Given the description of an element on the screen output the (x, y) to click on. 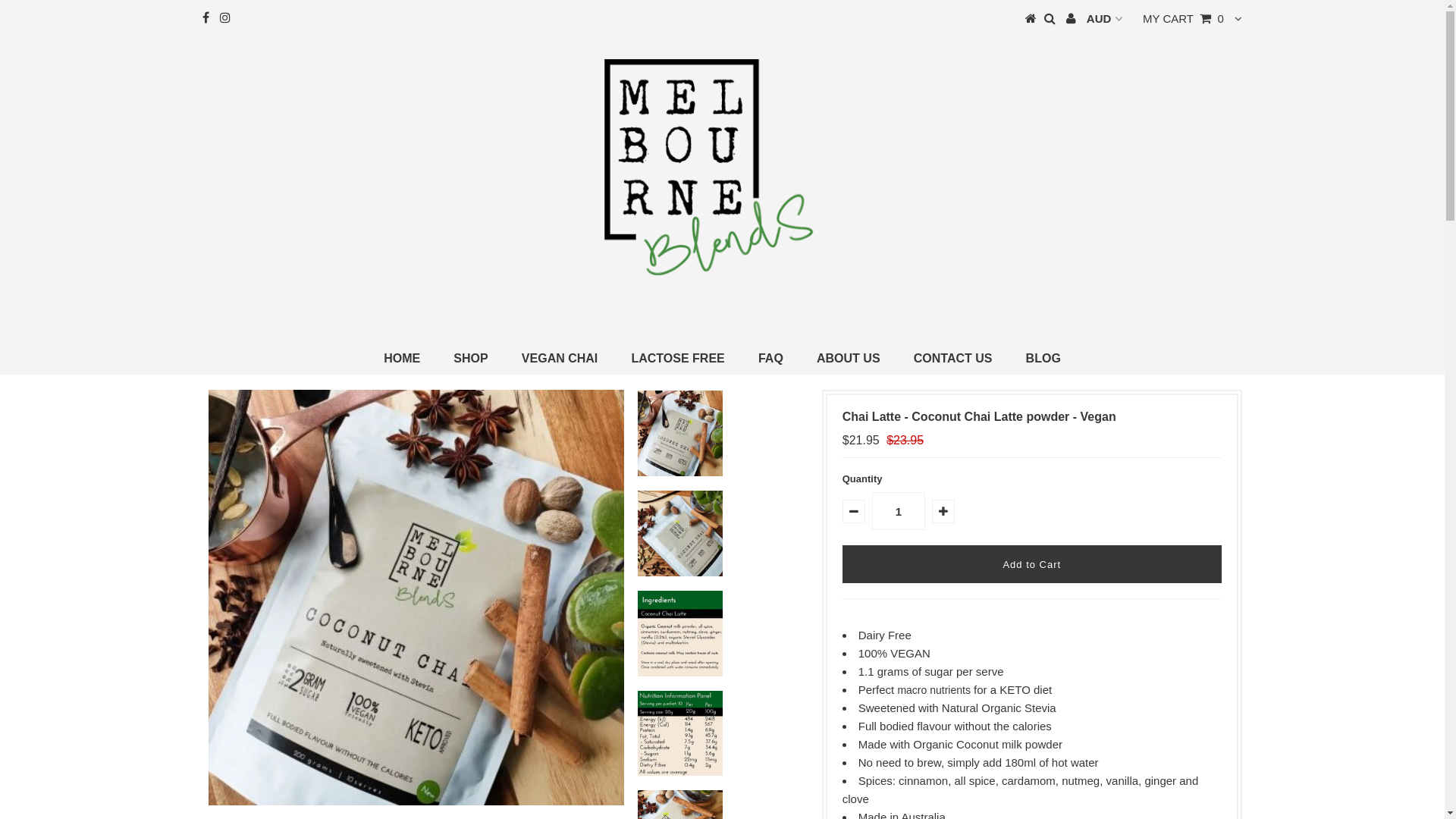
BLOG Element type: text (1043, 358)
FAQ Element type: text (770, 358)
HOME Element type: text (401, 358)
Chai Latte - Coconut Chai Latte powder - Vegan Element type: hover (416, 597)
MY CART    0 Element type: text (1182, 18)
VEGAN CHAI Element type: text (559, 358)
SHOP Element type: text (470, 358)
CONTACT US Element type: text (952, 358)
LACTOSE FREE Element type: text (677, 358)
Add to Cart Element type: text (1031, 564)
ABOUT US Element type: text (848, 358)
